Given the description of an element on the screen output the (x, y) to click on. 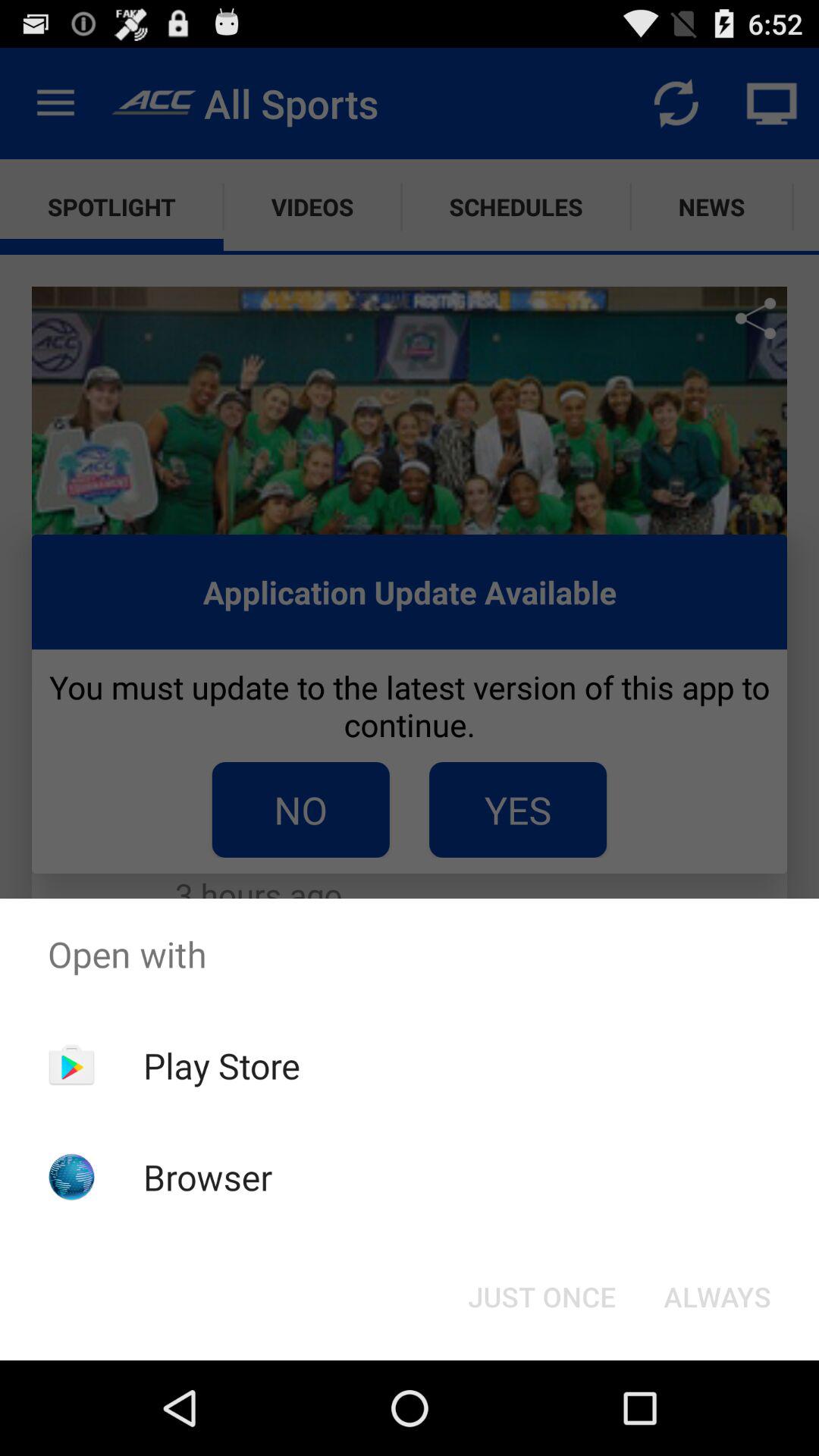
press app below the open with (221, 1065)
